Given the description of an element on the screen output the (x, y) to click on. 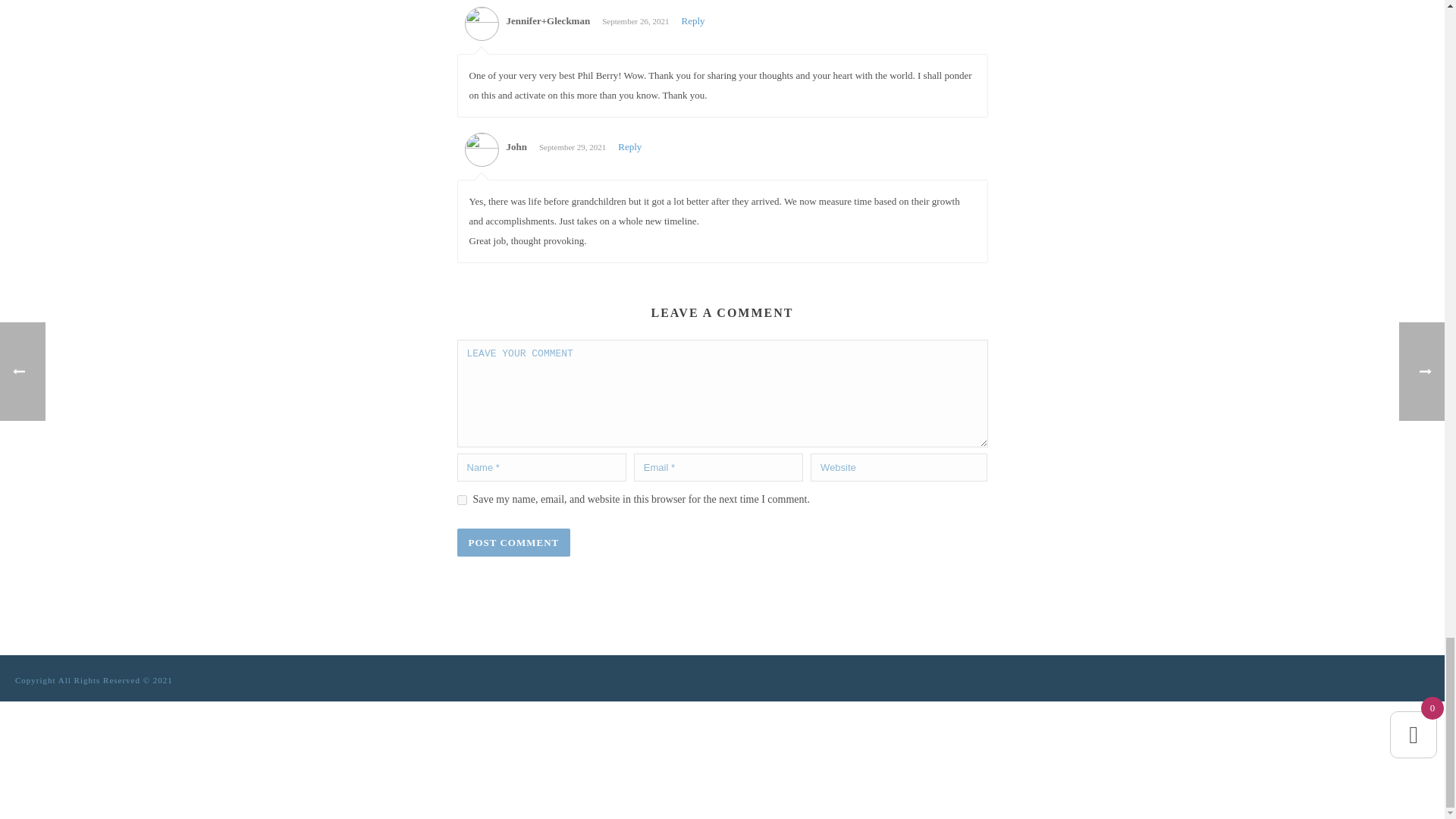
yes (461, 500)
Reply (629, 146)
Reply (692, 20)
POST COMMENT (513, 542)
POST COMMENT (513, 542)
